Given the description of an element on the screen output the (x, y) to click on. 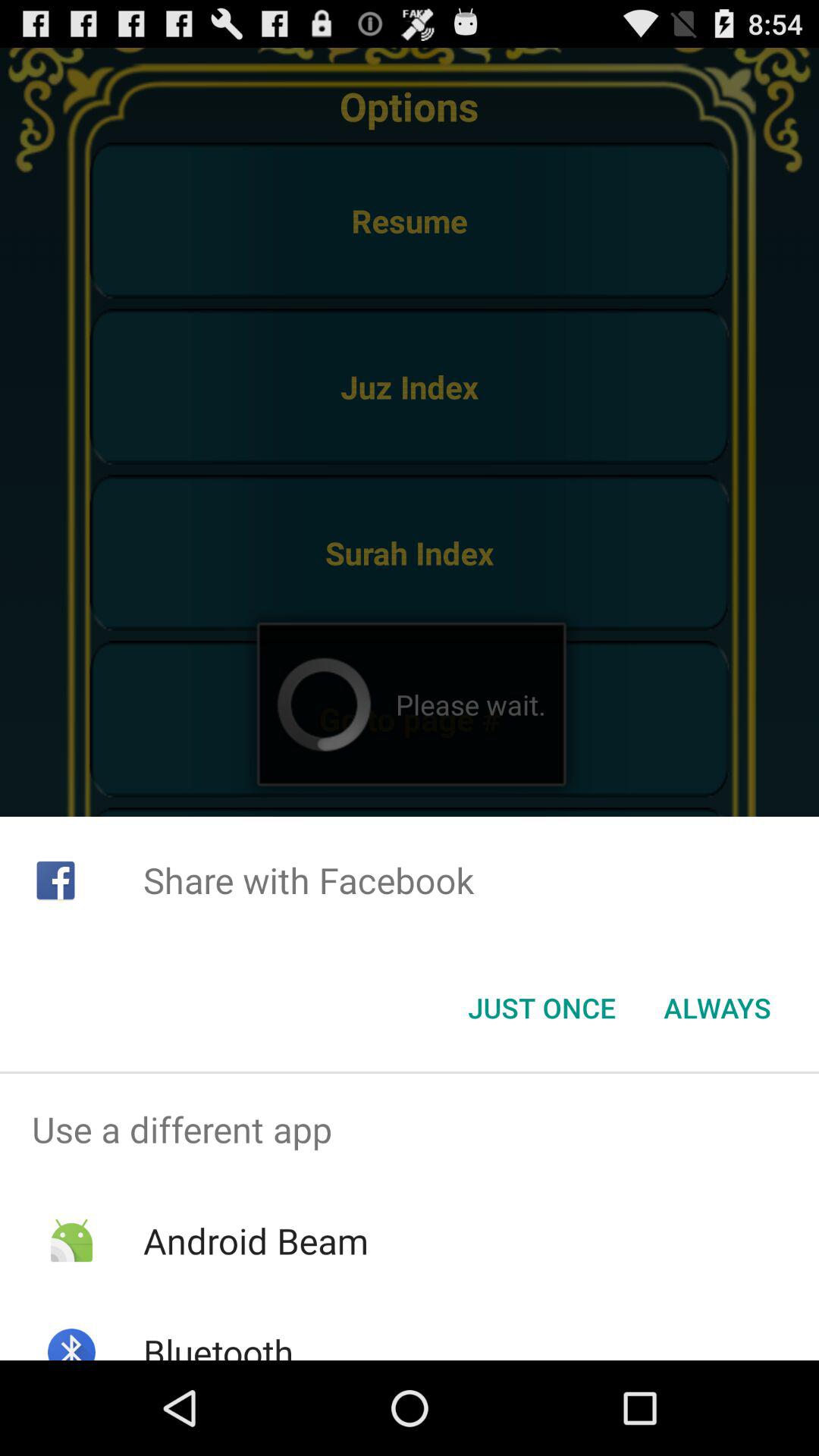
tap icon below share with facebook icon (717, 1007)
